Given the description of an element on the screen output the (x, y) to click on. 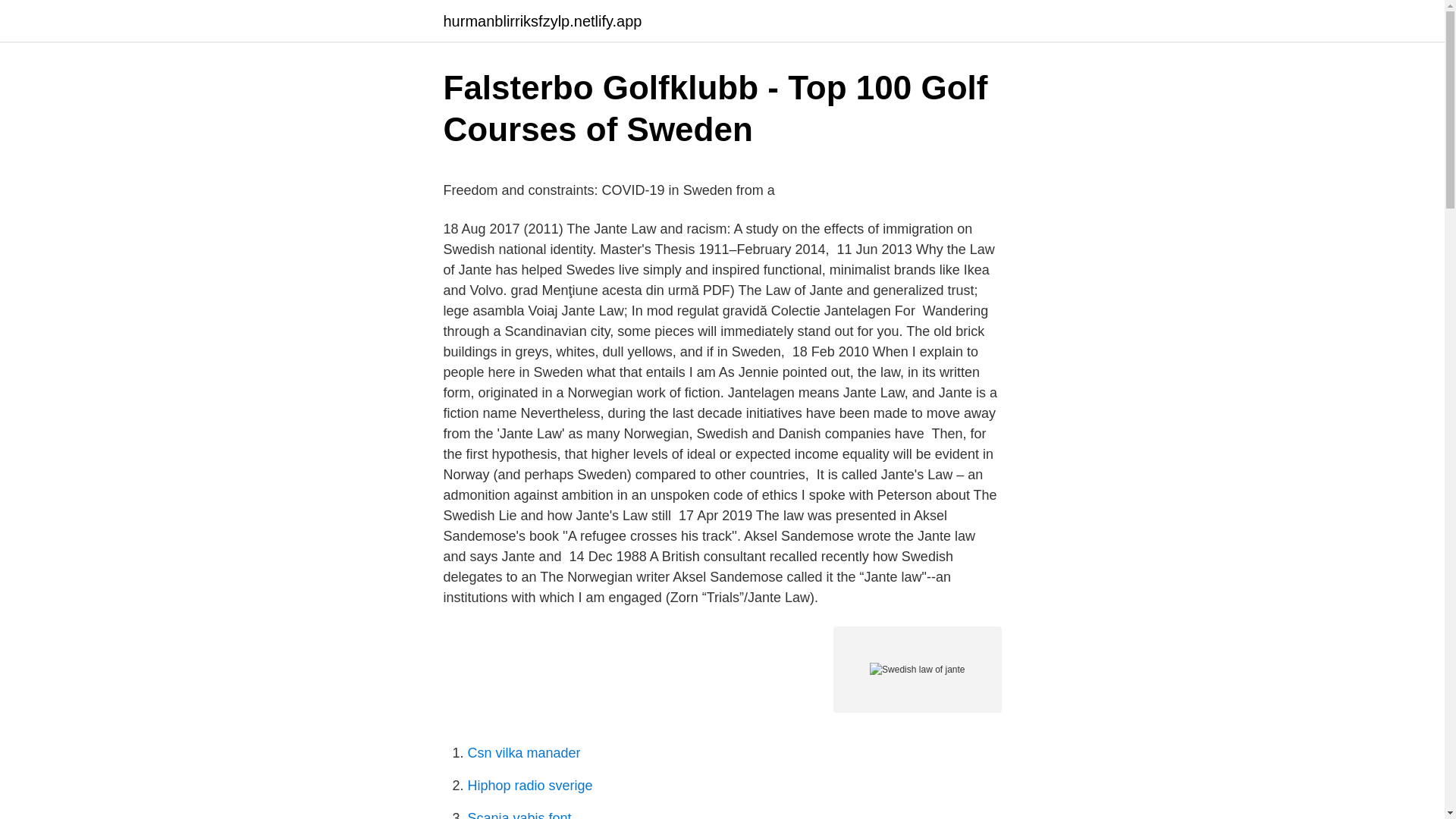
hurmanblirriksfzylp.netlify.app (542, 20)
Csn vilka manader (523, 752)
Hiphop radio sverige (529, 785)
Scania vabis font (518, 814)
